Given the description of an element on the screen output the (x, y) to click on. 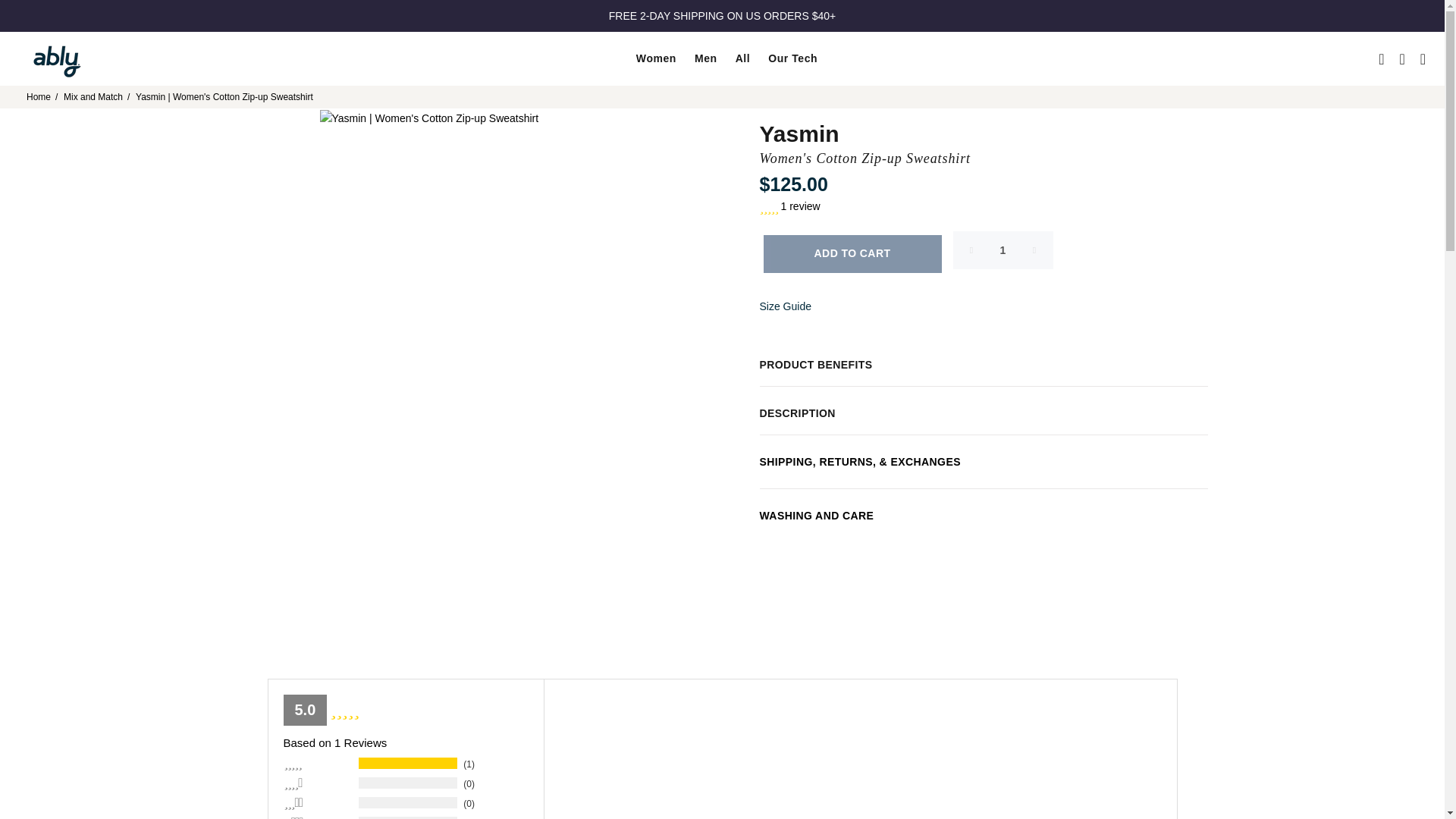
1 (1002, 249)
Go to review (984, 206)
